Given the description of an element on the screen output the (x, y) to click on. 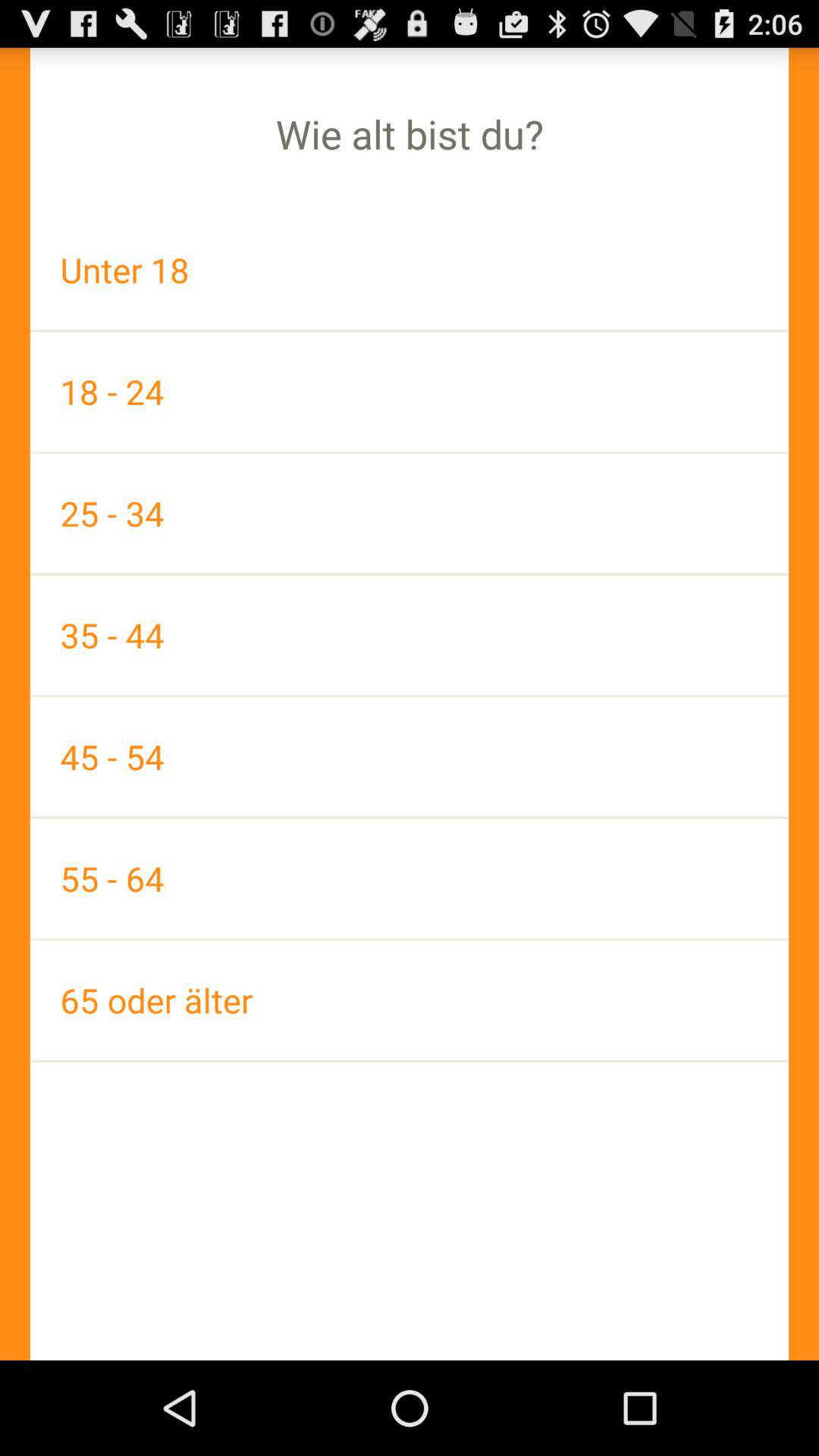
swipe to 55 - 64 (409, 878)
